Given the description of an element on the screen output the (x, y) to click on. 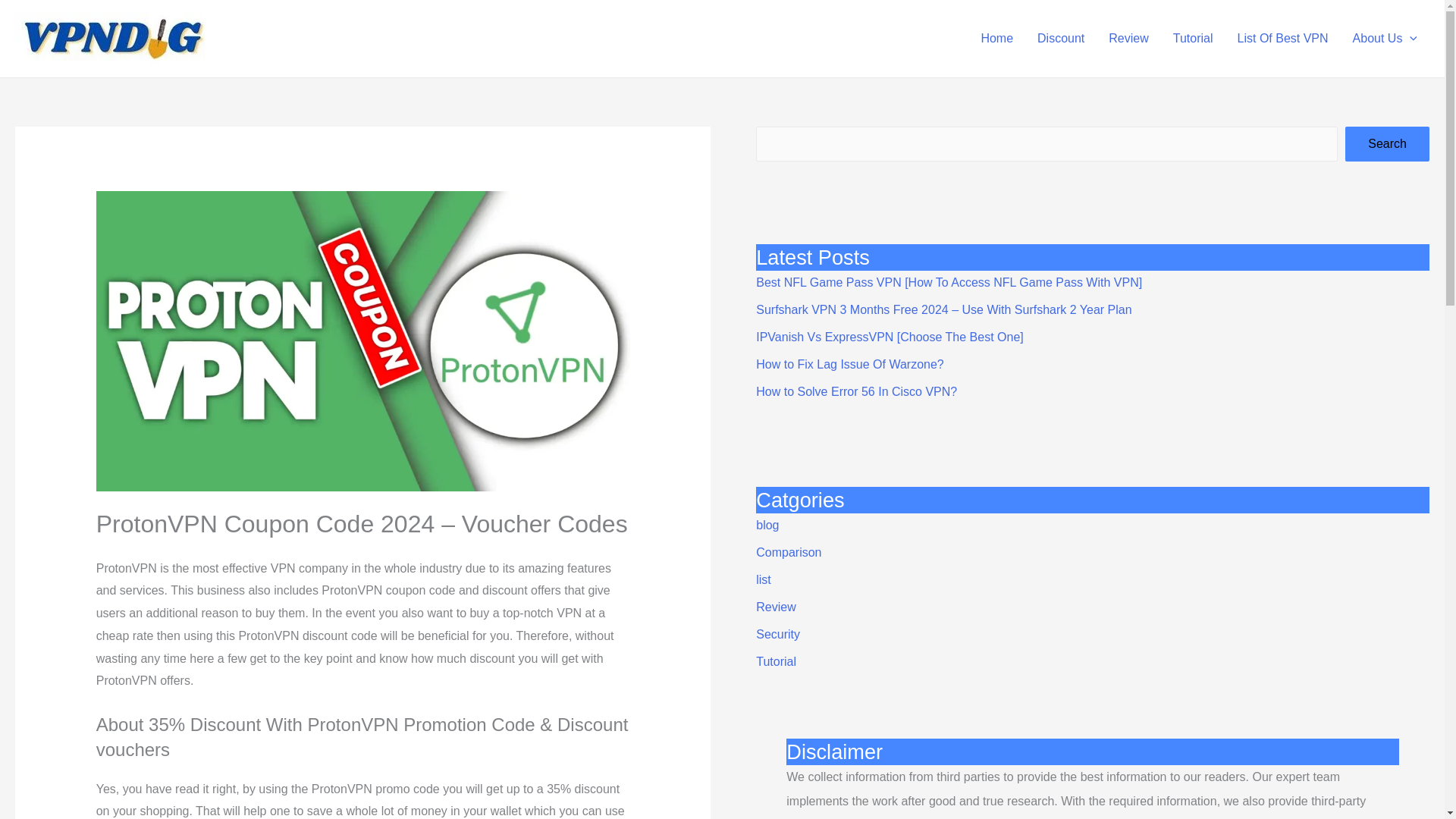
Review (1128, 38)
Home (996, 38)
Tutorial (1192, 38)
Discount (1060, 38)
List Of Best VPN (1282, 38)
About Us (1384, 38)
